Given the description of an element on the screen output the (x, y) to click on. 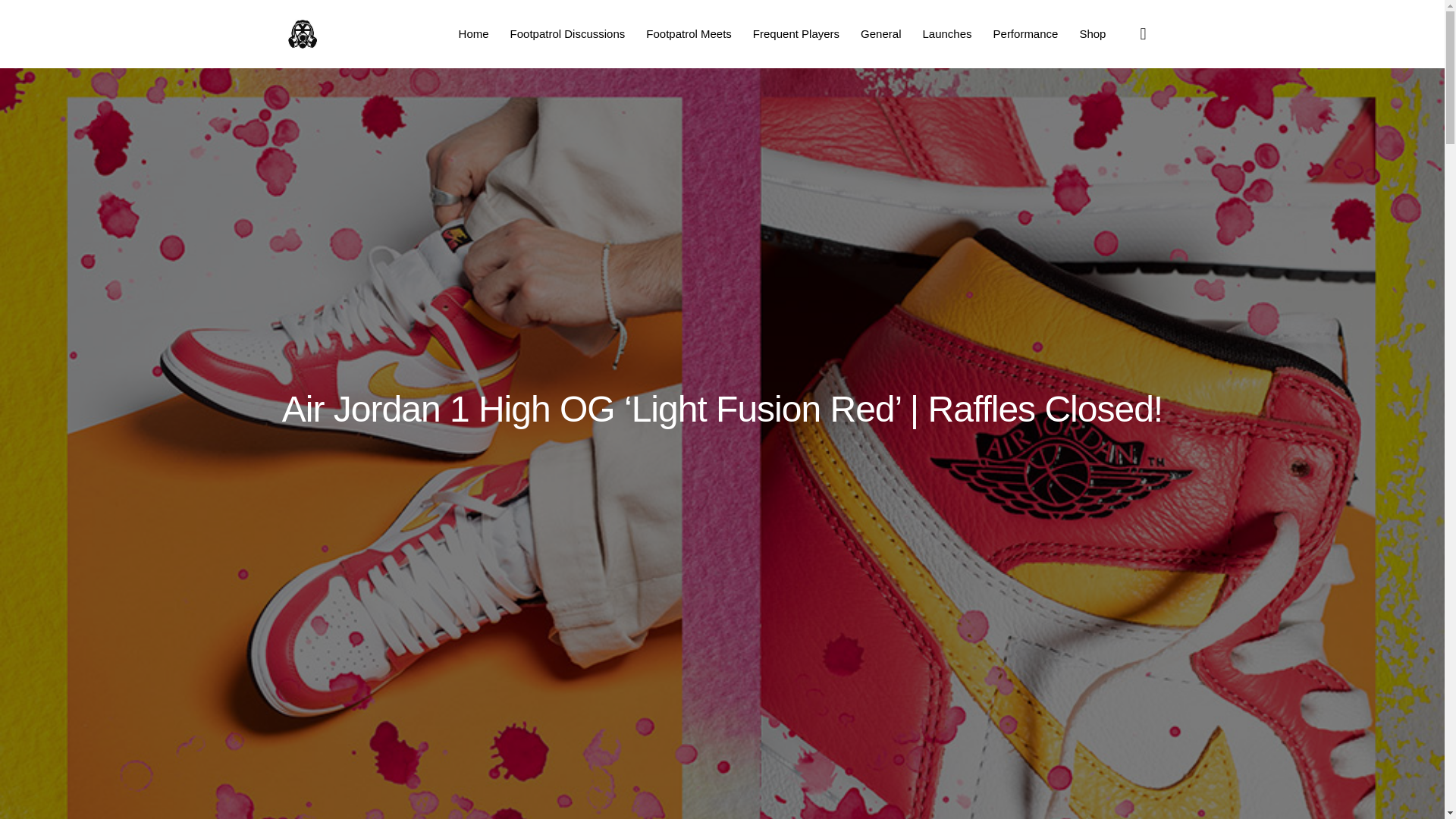
Performance (1025, 33)
Footpatrol Discussions (568, 33)
Footpatrol Meets (689, 33)
Frequent Players (796, 33)
